Given the description of an element on the screen output the (x, y) to click on. 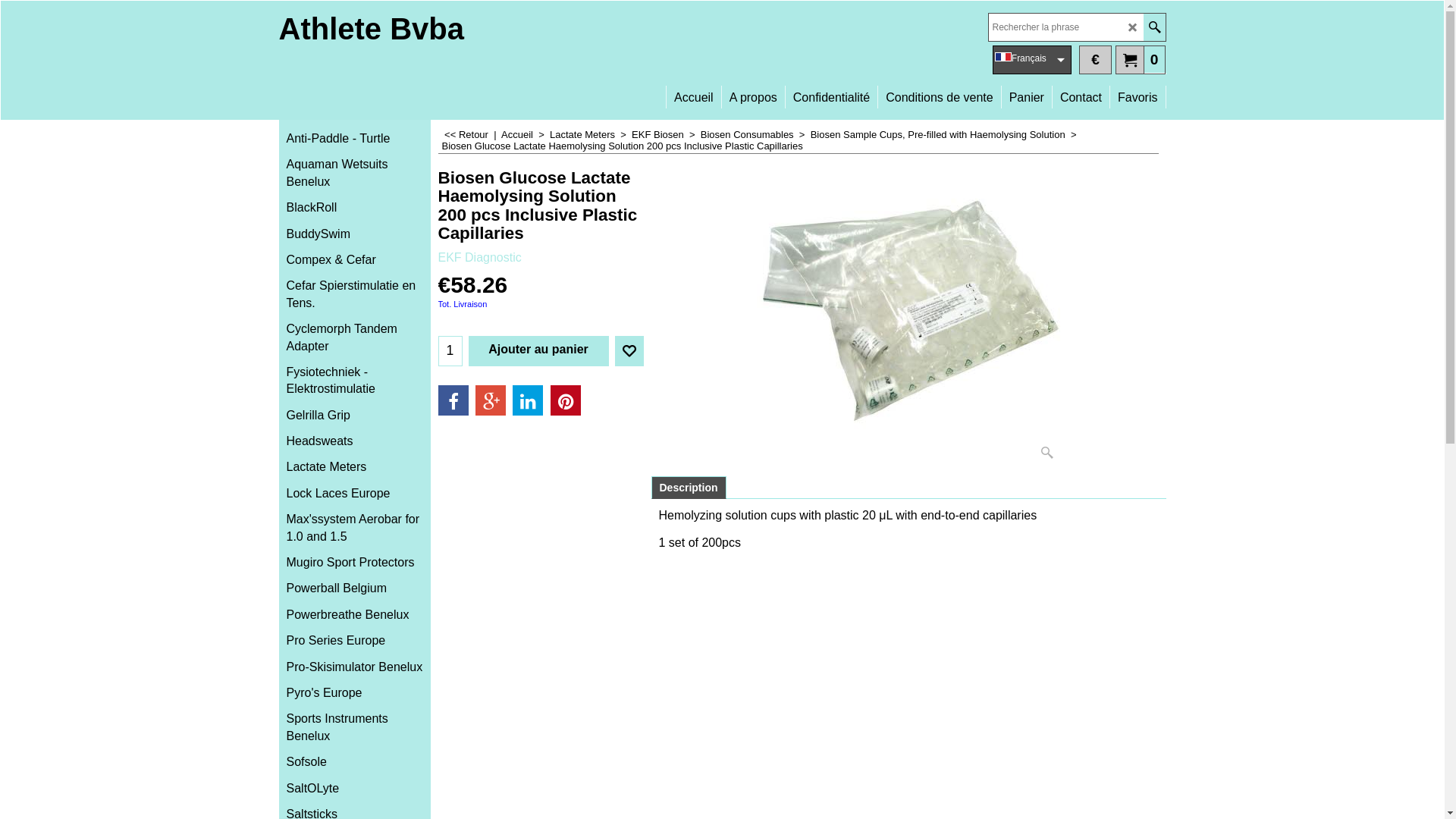
Lactate Meters  >  Element type: text (590, 134)
Accueil  >  Element type: text (525, 134)
Favoris Element type: hover (628, 350)
Cyclemorph Tandem Adapter Element type: text (354, 337)
LinkedIn Element type: hover (527, 400)
Conditions de vente Element type: text (939, 90)
LD_CANCEL Element type: hover (1132, 26)
Google+ Element type: hover (490, 400)
Mugiro Sport Protectors Element type: text (354, 562)
0 Element type: text (1140, 58)
Sofsole Element type: text (354, 762)
Facebook Element type: hover (453, 400)
1 Element type: text (449, 350)
Pro Series Europe Element type: text (354, 640)
Biosen Sample Cups, Pre-filled with Haemolysing Solution  >  Element type: text (944, 134)
Headsweats Element type: text (354, 441)
Max'ssystem Aerobar for 1.0 and 1.5 Element type: text (354, 527)
Lactate Meters Element type: text (354, 467)
 << Retour  Element type: text (465, 134)
Powerball Belgium Element type: text (354, 588)
Panier Element type: text (1026, 90)
Favoris Element type: text (1137, 90)
Compex & Cefar Element type: text (354, 260)
Anti-Paddle - Turtle Element type: text (354, 138)
Pro-Skisimulator Benelux Element type: text (354, 667)
Ajouter au panier Element type: text (537, 350)
Description Element type: text (688, 487)
Gelrilla Grip Element type: text (354, 415)
Accueil Element type: text (693, 90)
Contact Element type: text (1080, 90)
BlackRoll Element type: text (354, 207)
BuddySwim Element type: text (354, 234)
Biosen Consumables  >  Element type: text (755, 134)
Fysiotechniek - Elektrostimulatie Element type: text (354, 380)
Cefar Spierstimulatie en Tens. Element type: text (354, 294)
Aquaman Wetsuits Benelux Element type: text (354, 172)
SaltOLyte Element type: text (354, 788)
Pyro's Europe Element type: text (354, 693)
Tot. Livraison Element type: text (462, 303)
A propos Element type: text (752, 90)
EKF Biosen  >  Element type: text (665, 134)
Recherche Element type: hover (1154, 26)
Pinterest Element type: hover (565, 400)
Sports Instruments Benelux Element type: text (354, 727)
Powerbreathe Benelux Element type: text (354, 614)
Lock Laces Europe Element type: text (354, 493)
Athlete Bvba Element type: text (371, 29)
